Given the description of an element on the screen output the (x, y) to click on. 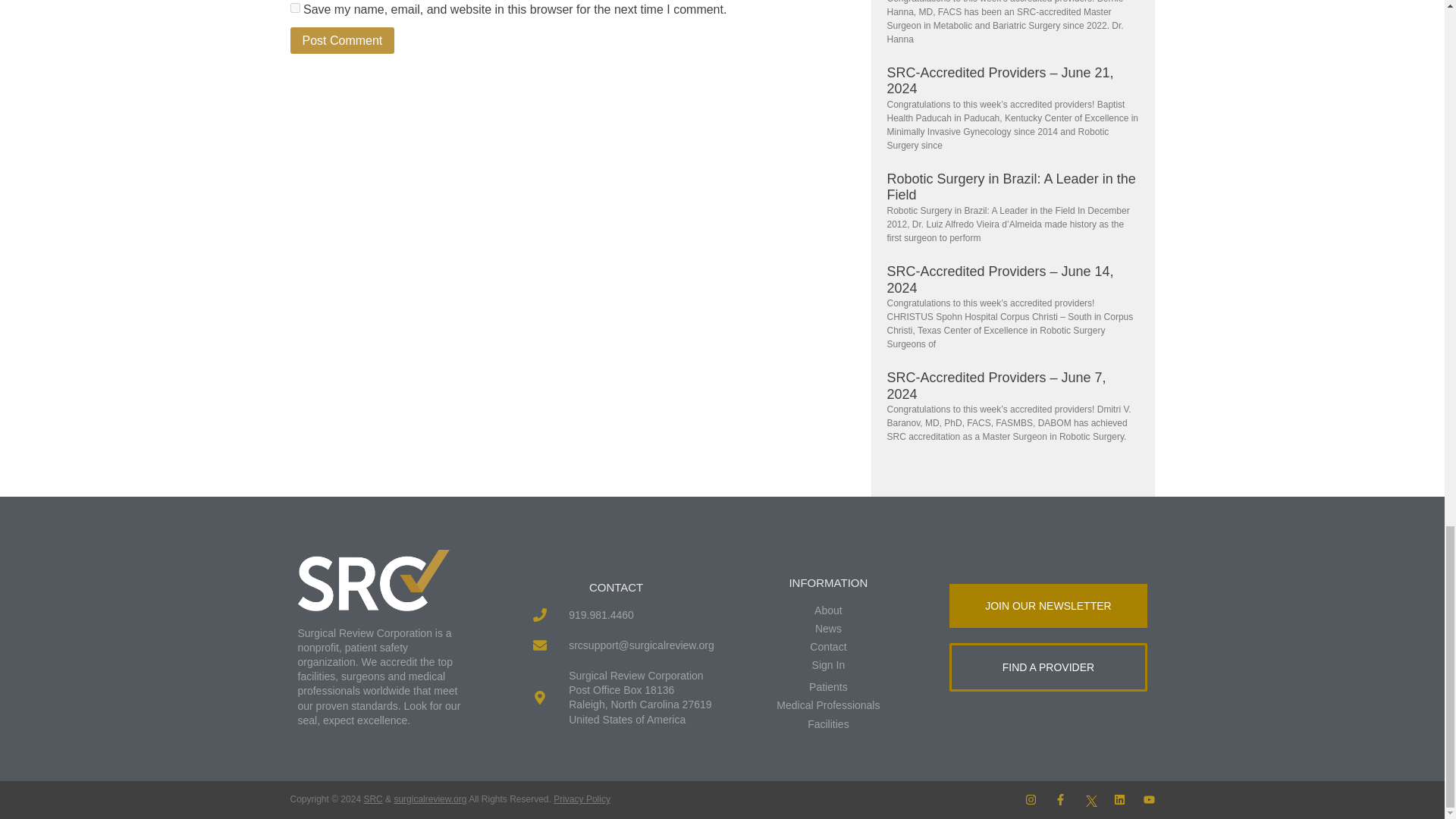
Post Comment (341, 40)
Facebook - Surgical Review Corporation (1059, 799)
Youtube - Surgical Review Corporation (1148, 799)
Instagram - Surgical Review Corporation (1030, 799)
Linkedin - Surgical Review Corporation (1118, 799)
yes (294, 8)
Post Comment (341, 40)
Twitter - Surgical Review Corporation (1090, 799)
